Given the description of an element on the screen output the (x, y) to click on. 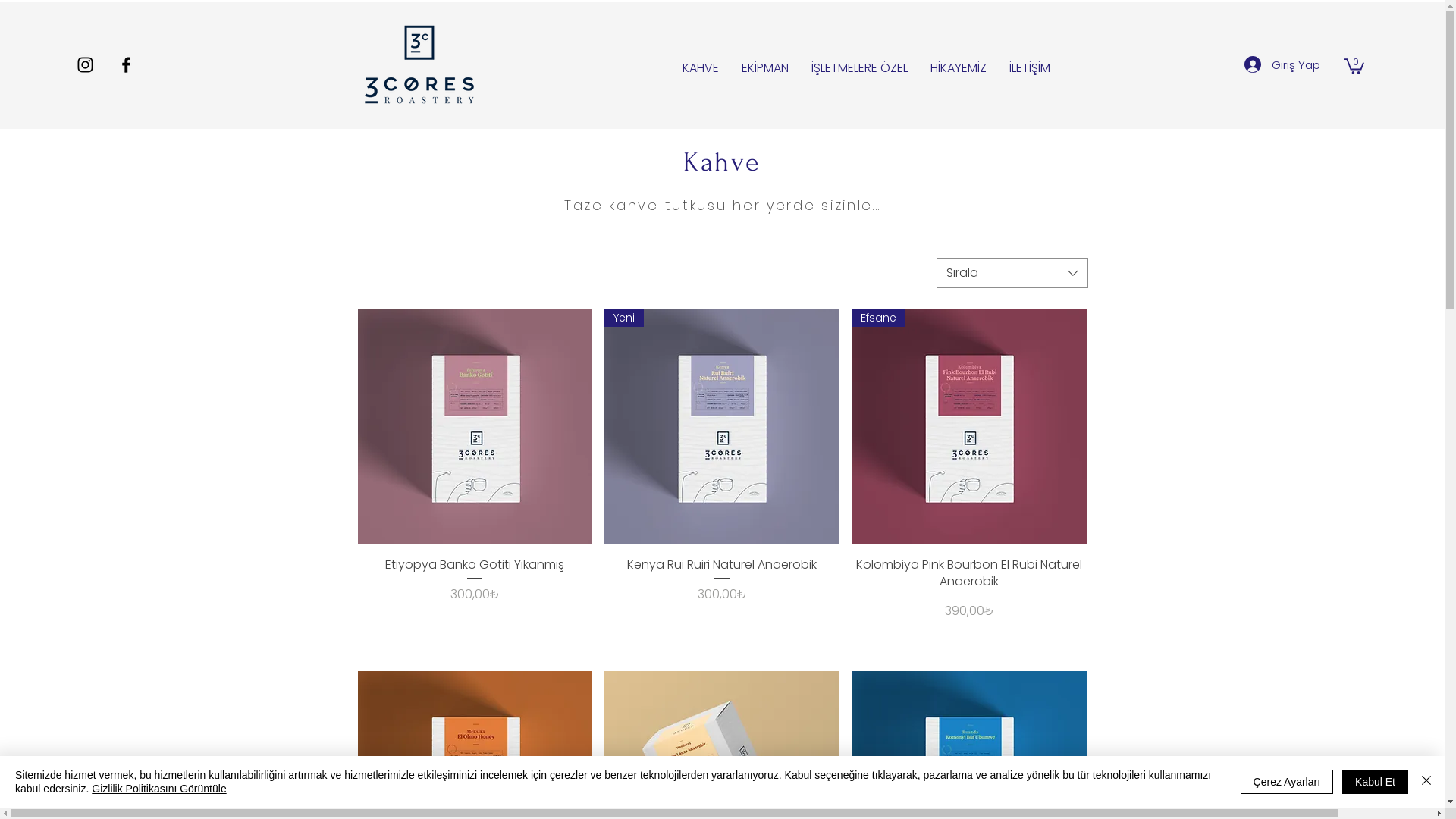
KAHVE Element type: text (699, 68)
0 Element type: text (1353, 65)
Kabul Et Element type: text (1375, 781)
Efsane Element type: text (968, 426)
Yeni Element type: text (721, 426)
